Given the description of an element on the screen output the (x, y) to click on. 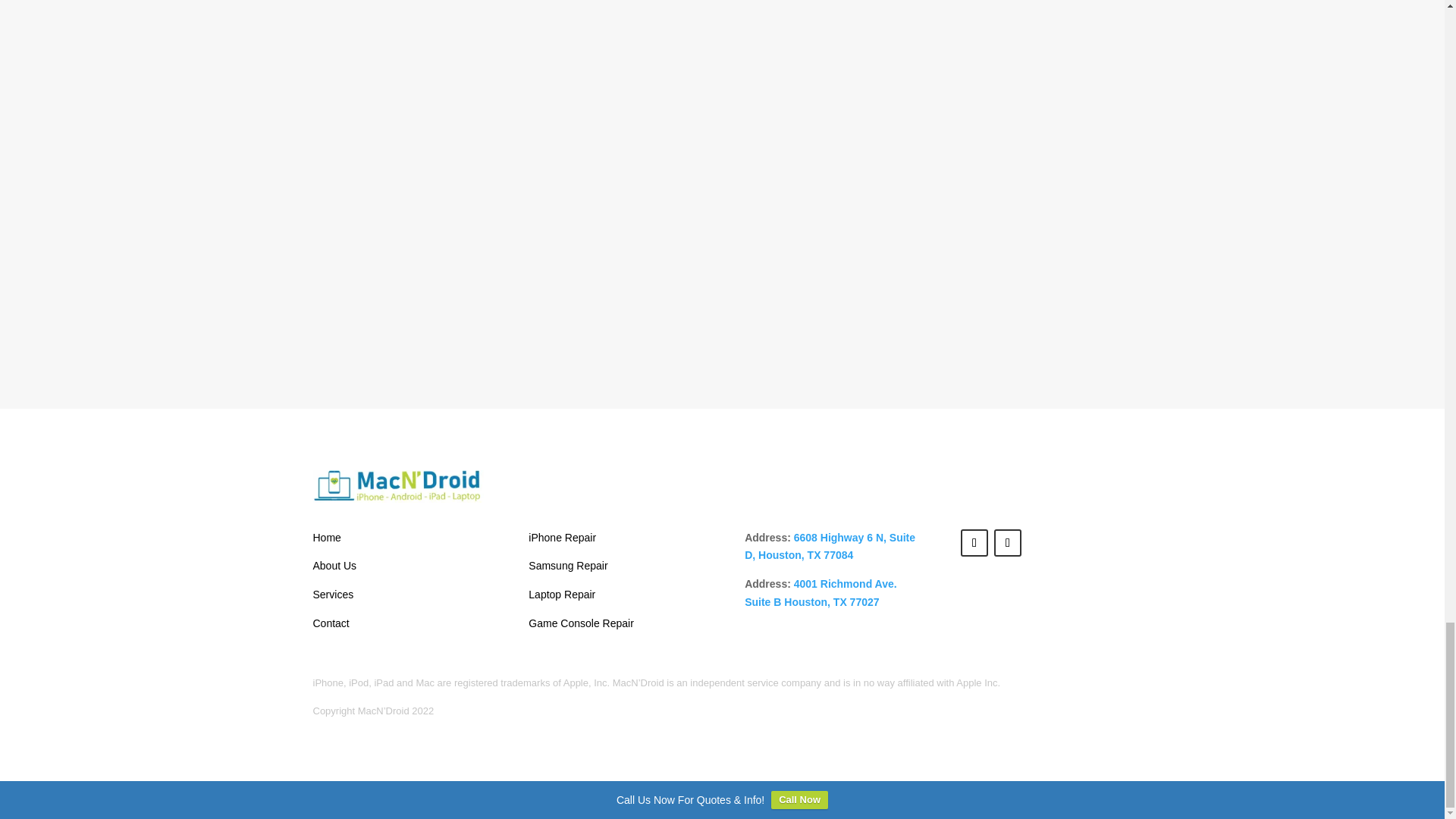
Follow on Facebook (1008, 542)
m (398, 486)
Follow on Instagram (974, 542)
